Given the description of an element on the screen output the (x, y) to click on. 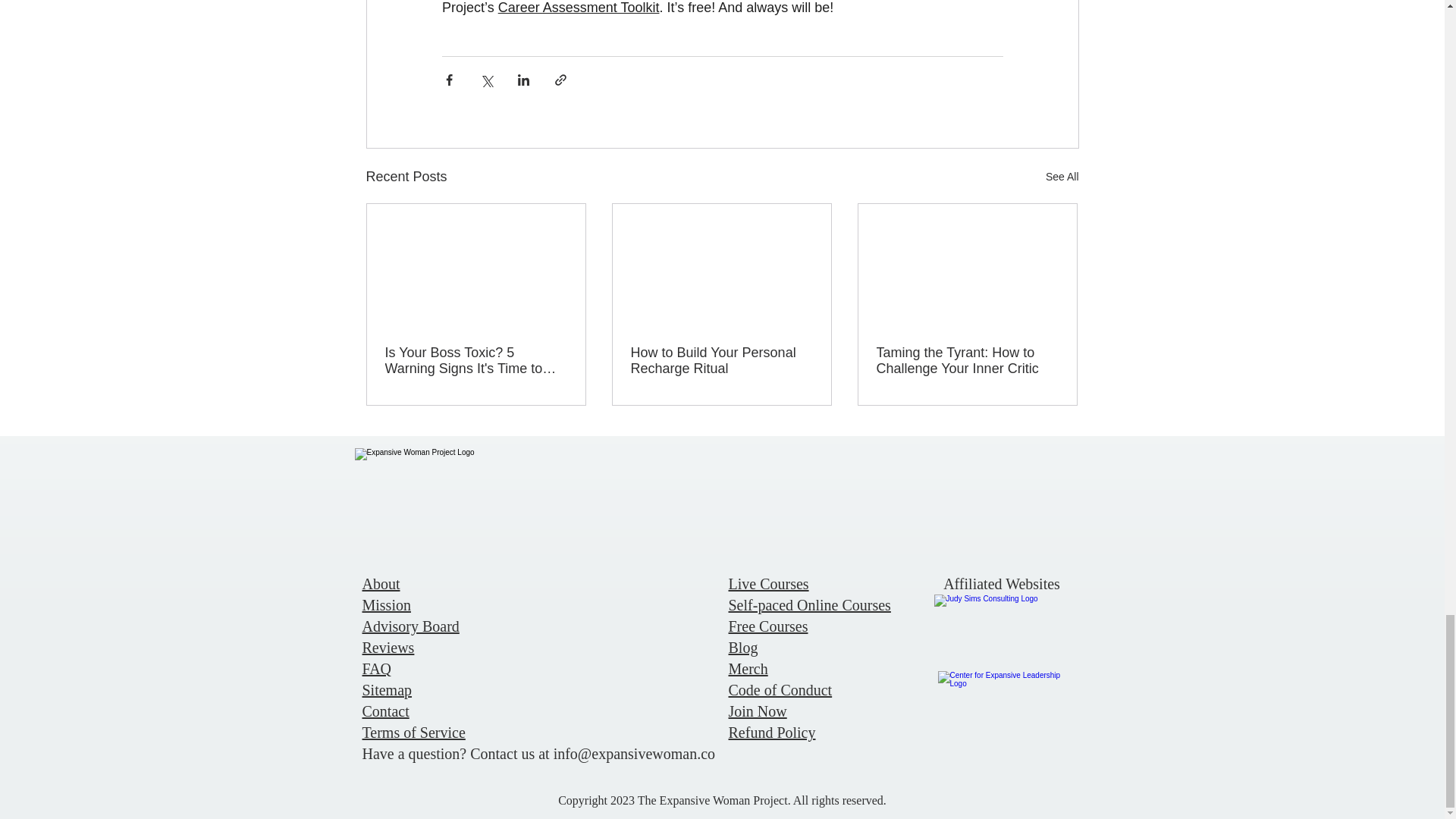
Contact (385, 710)
Sitemap (387, 689)
How to Build Your Personal Recharge Ritual (721, 360)
Free Courses (768, 626)
Join Now (757, 710)
Reviews (388, 647)
Blog (742, 647)
Mission (386, 605)
Terms of Service (413, 732)
